Given the description of an element on the screen output the (x, y) to click on. 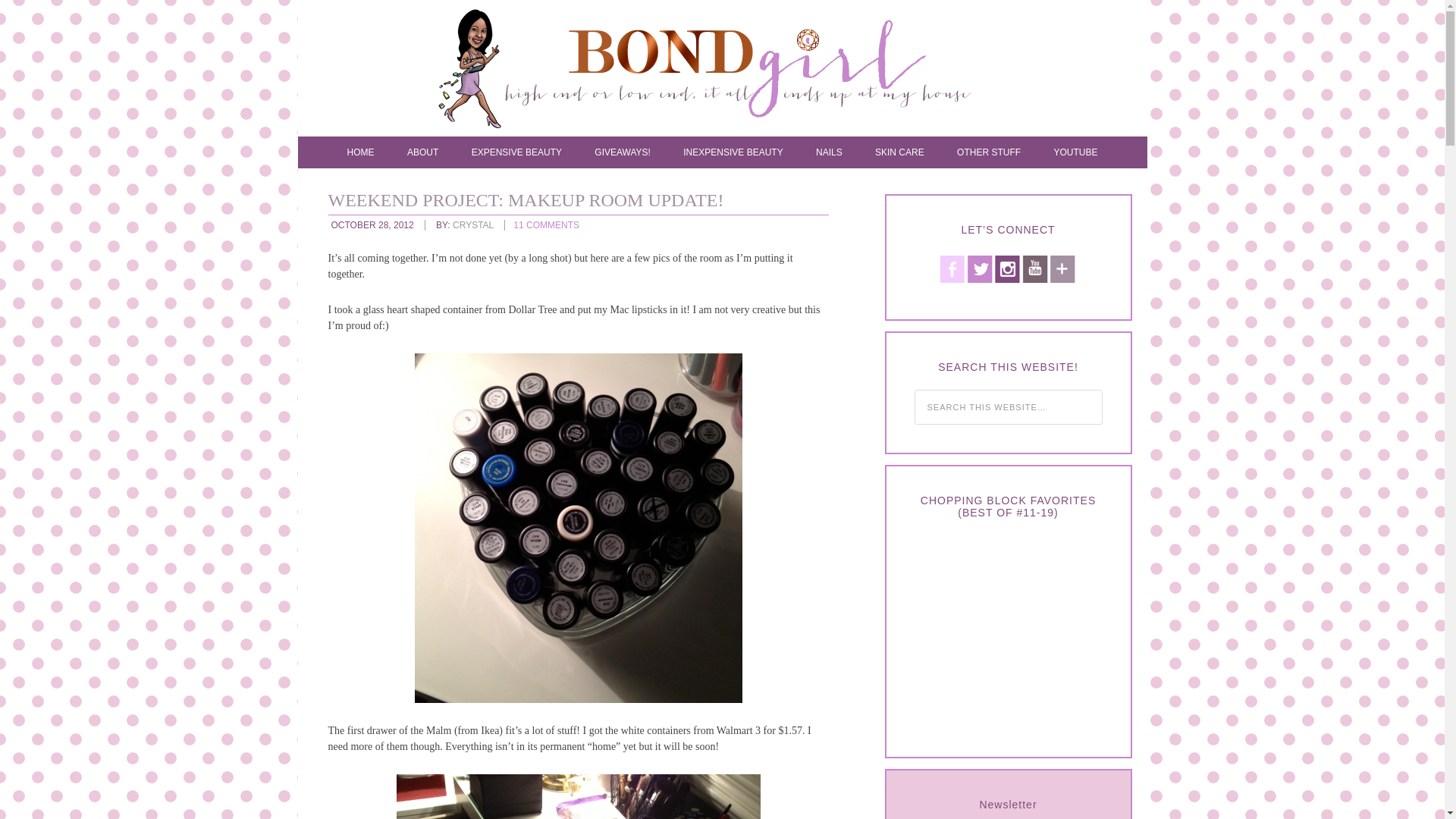
photo-1 (577, 527)
malm drawer (578, 796)
OTHER STUFF (988, 152)
YOUTUBE (1075, 152)
EXPENSIVE BEAUTY (516, 152)
HOME (360, 152)
SKIN CARE (899, 152)
ABOUT (421, 152)
crystalis007 (737, 71)
NAILS (828, 152)
INEXPENSIVE BEAUTY (732, 152)
crystalis007 (737, 71)
11 COMMENTS (546, 225)
GIVEAWAYS! (622, 152)
